Given the description of an element on the screen output the (x, y) to click on. 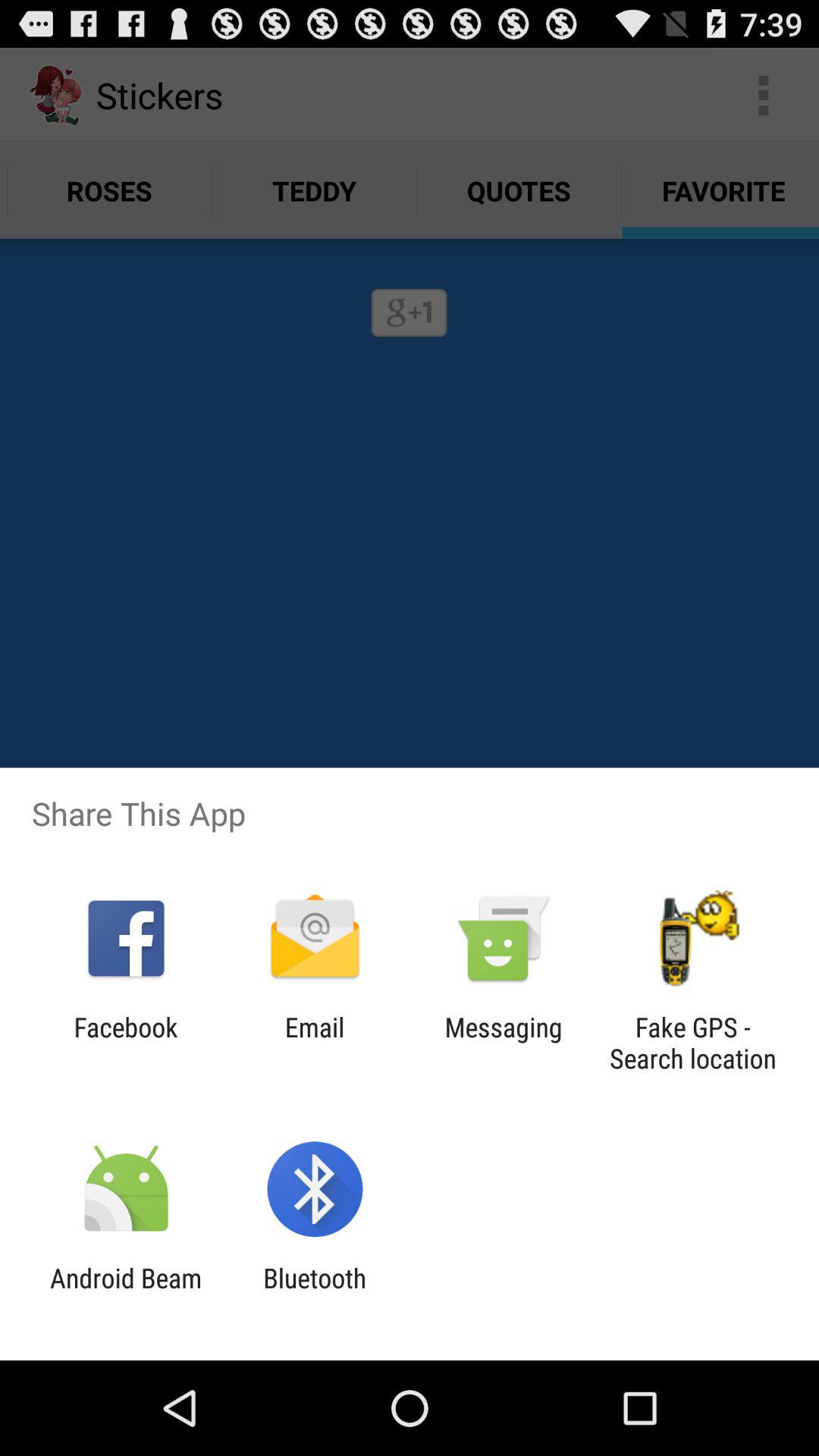
scroll until facebook item (125, 1042)
